Given the description of an element on the screen output the (x, y) to click on. 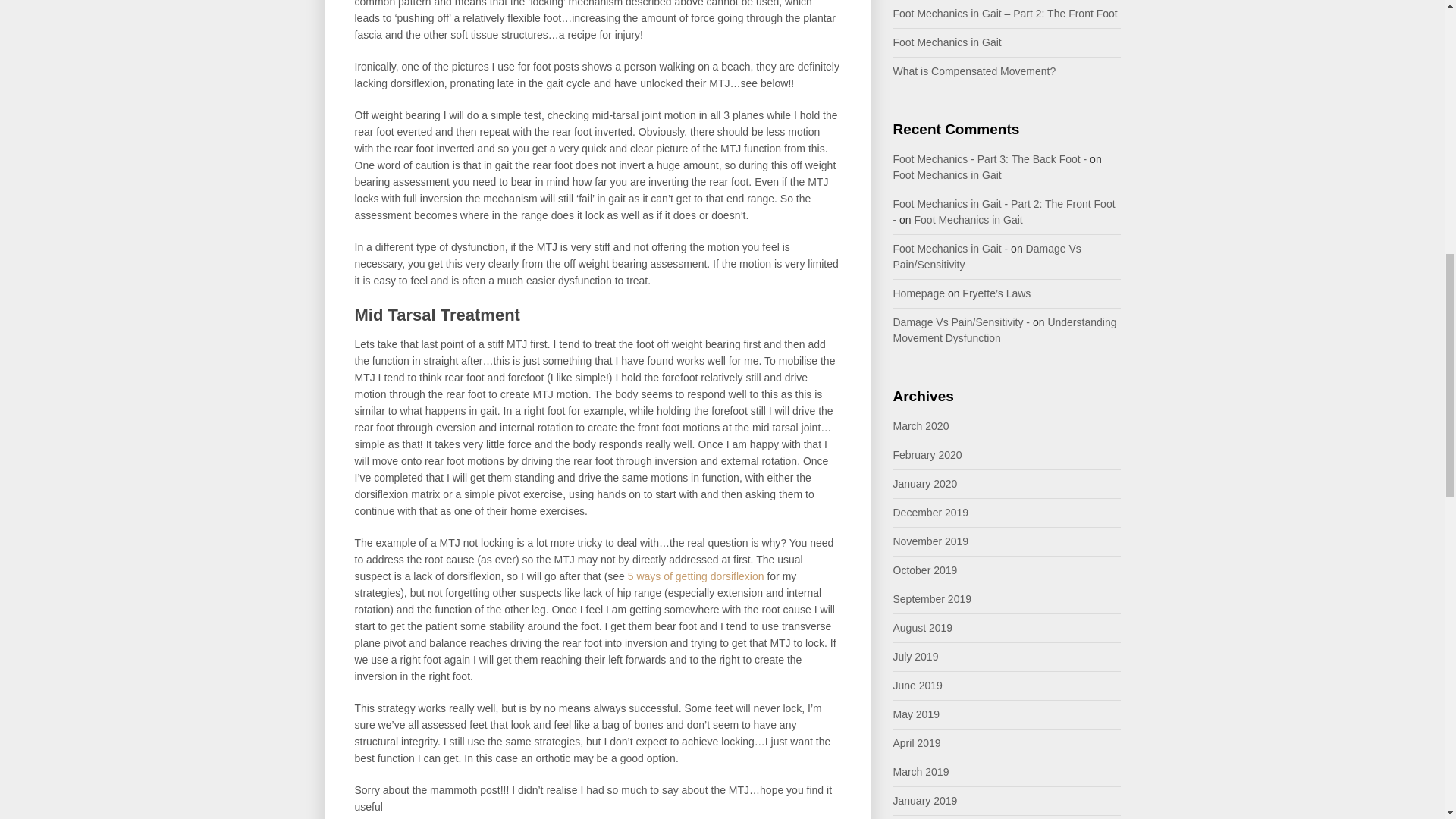
What is Compensated Movement? (975, 70)
Foot Mechanics - Part 3: The Back Foot - (990, 159)
Foot Mechanics in Gait (947, 174)
5 ways of getting dorsiflexion (695, 576)
Foot Mechanics in Gait (947, 42)
